Given the description of an element on the screen output the (x, y) to click on. 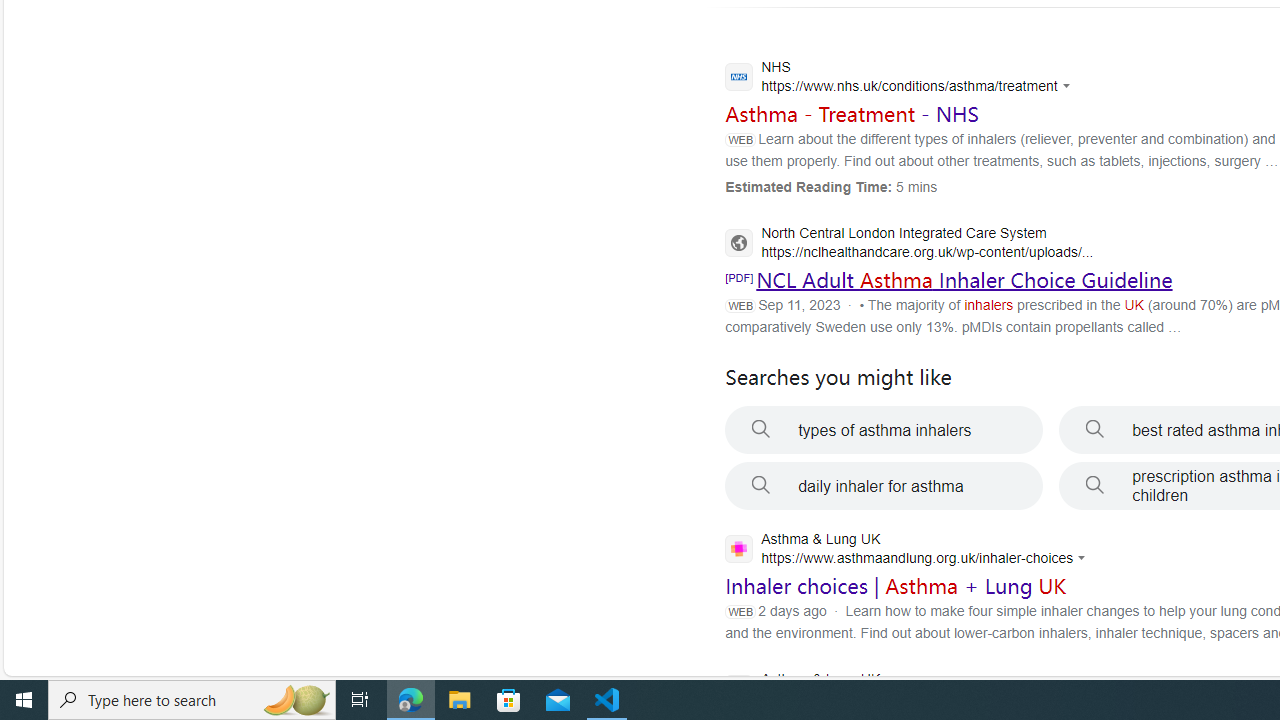
Estimated Reading Time: 5 mins (831, 186)
types of asthma inhalers (884, 430)
North Central London Integrated Care System (909, 244)
NCL Adult Asthma Inhaler Choice Guideline (964, 280)
daily inhaler for asthma (884, 485)
Asthma - Treatment - NHS (851, 113)
Inhaler choices | Asthma + Lung UK (895, 586)
NHS (902, 79)
types of asthma inhalers (884, 430)
Actions for this site (1084, 557)
Asthma & Lung UK (902, 691)
daily inhaler for asthma (884, 485)
